Given the description of an element on the screen output the (x, y) to click on. 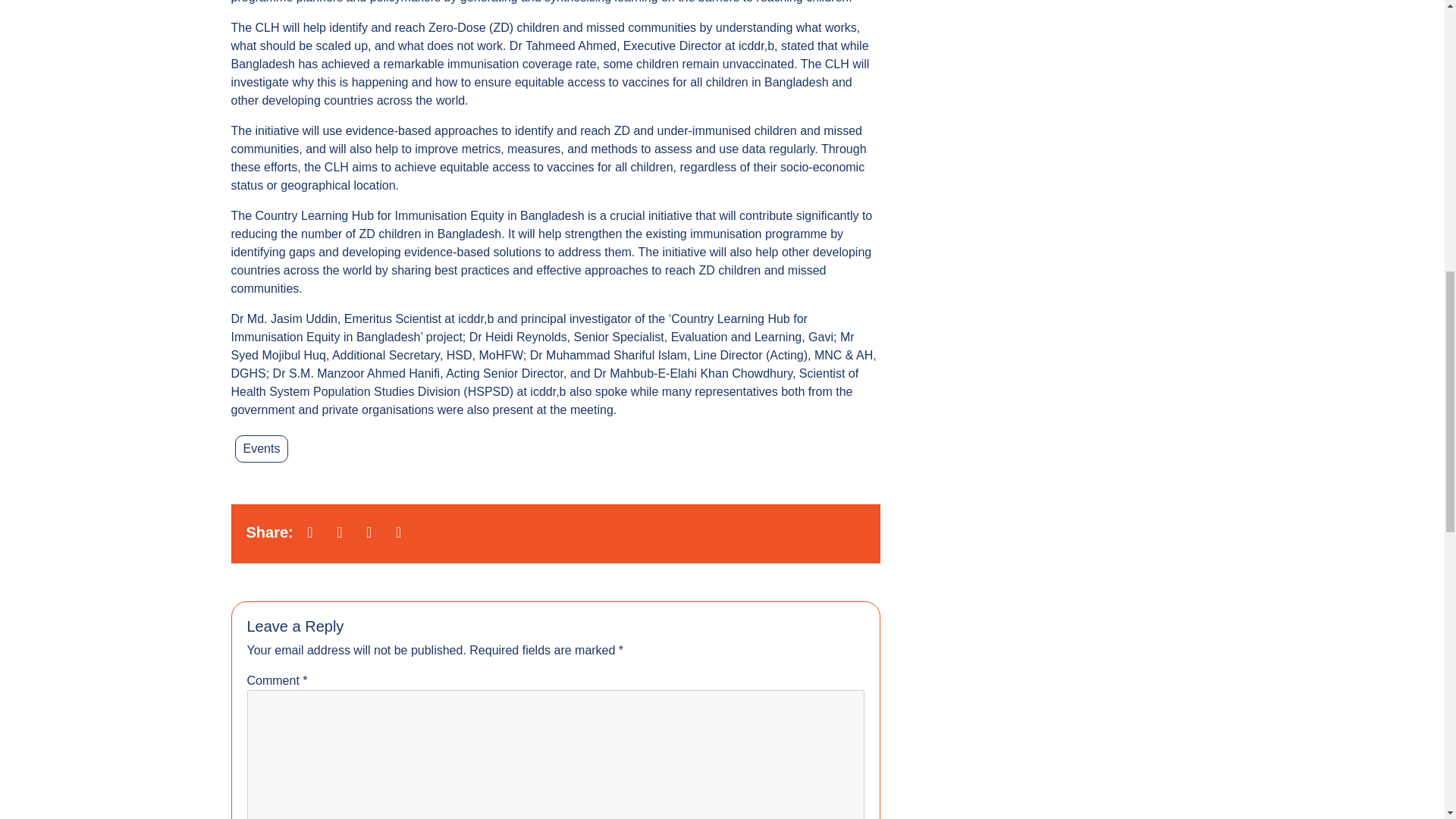
Events (261, 448)
